Given the description of an element on the screen output the (x, y) to click on. 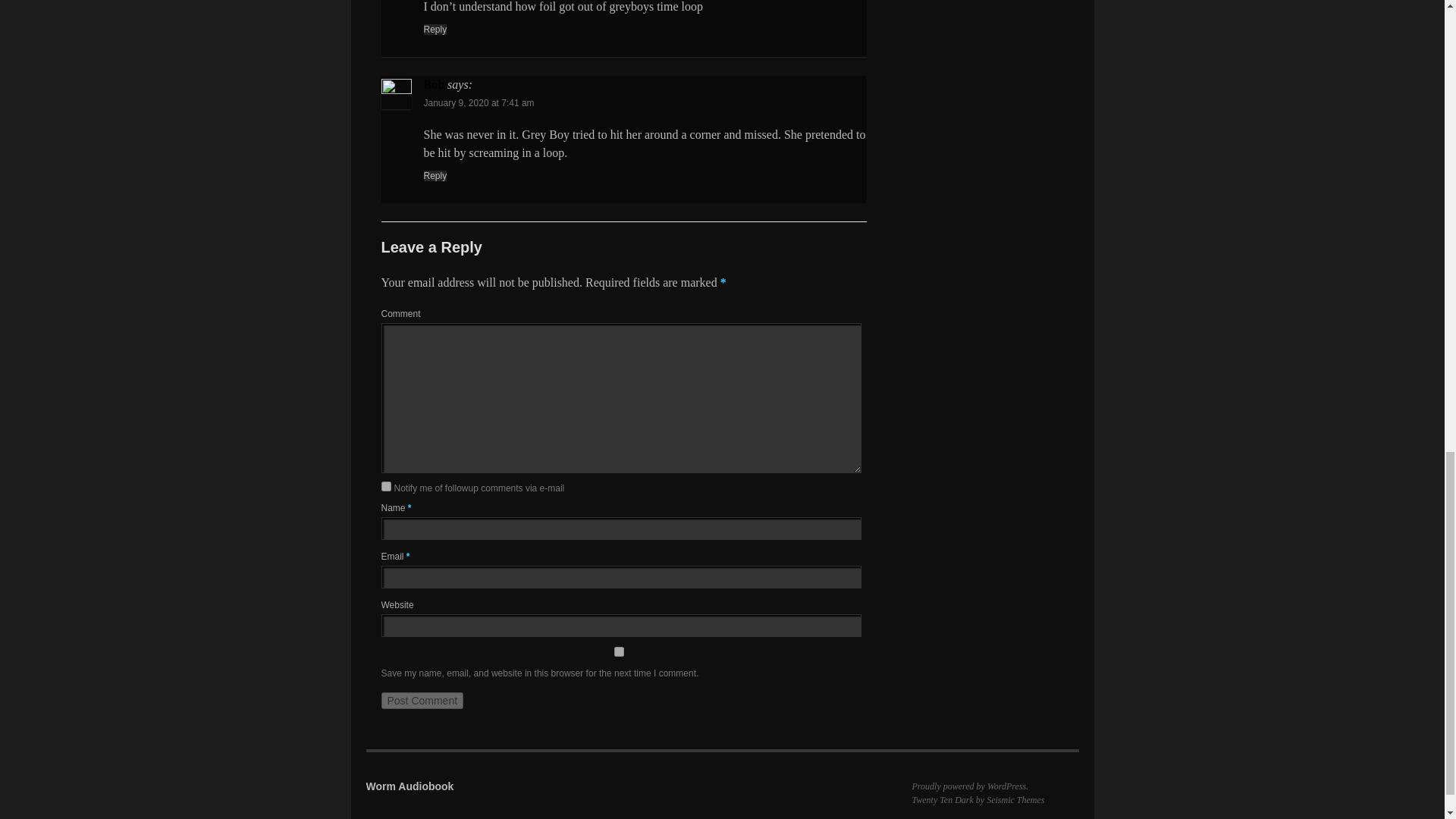
subscribe (385, 486)
Post Comment (421, 700)
Reply (434, 175)
Reply (434, 29)
Post Comment (421, 700)
yes (618, 651)
January 9, 2020 at 7:41 am (478, 102)
Worm Audiobook (408, 786)
